Given the description of an element on the screen output the (x, y) to click on. 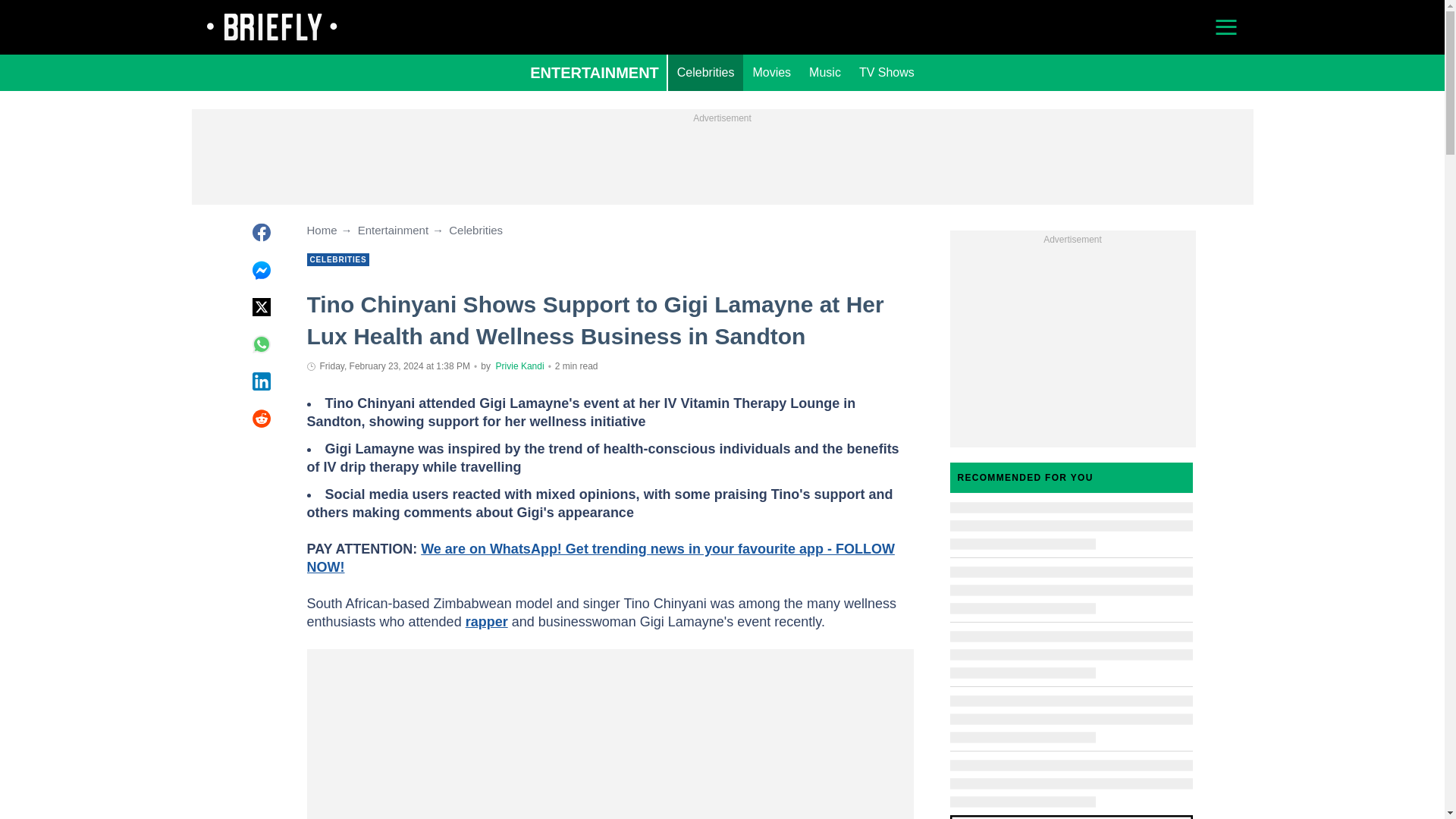
Author page (520, 366)
TV Shows (886, 72)
Movies (770, 72)
ENTERTAINMENT (594, 72)
Music (824, 72)
Celebrities (706, 72)
Briefly News WhatsApp (599, 557)
